Given the description of an element on the screen output the (x, y) to click on. 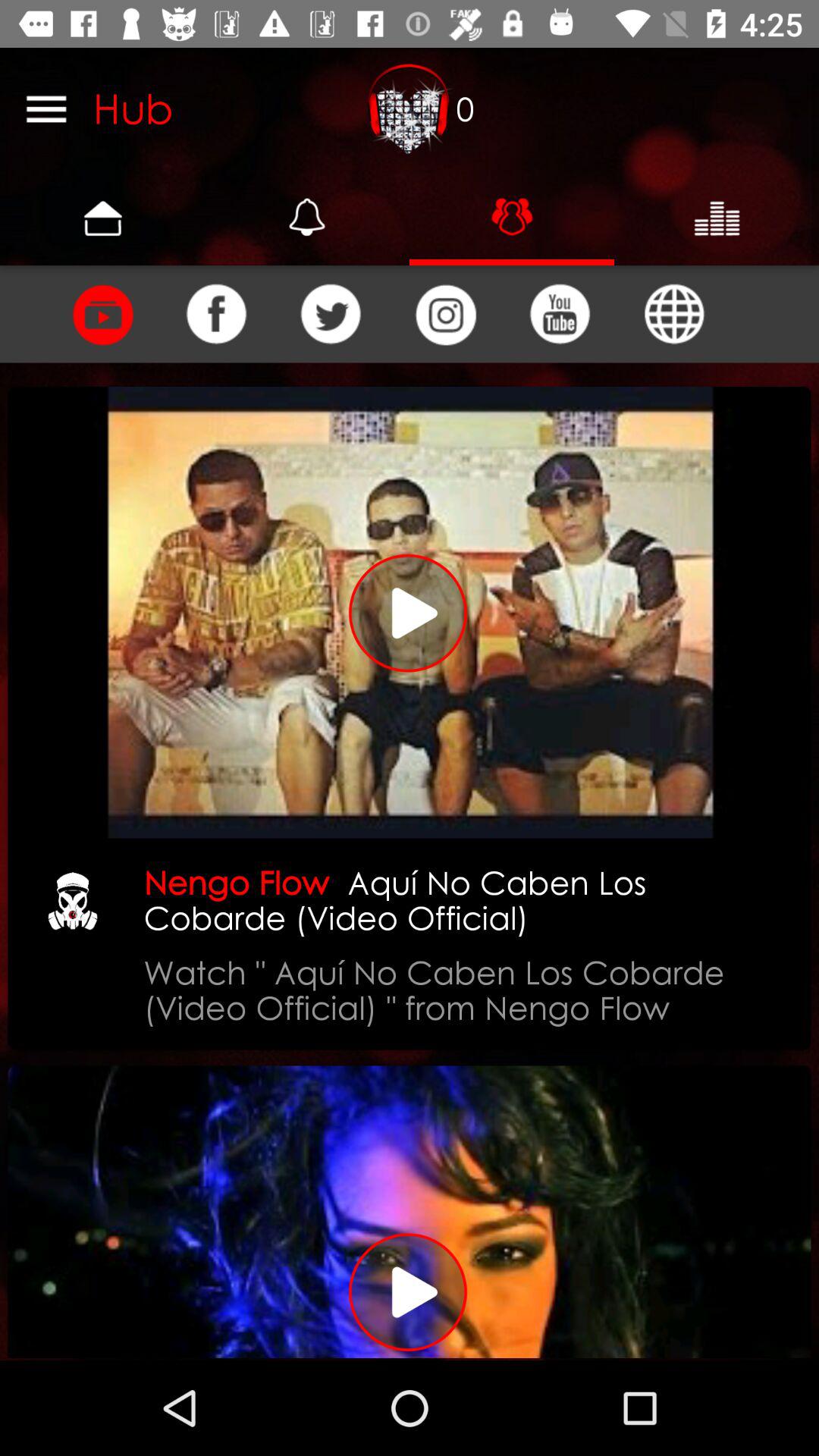
launch item to the left of 0 (409, 108)
